Given the description of an element on the screen output the (x, y) to click on. 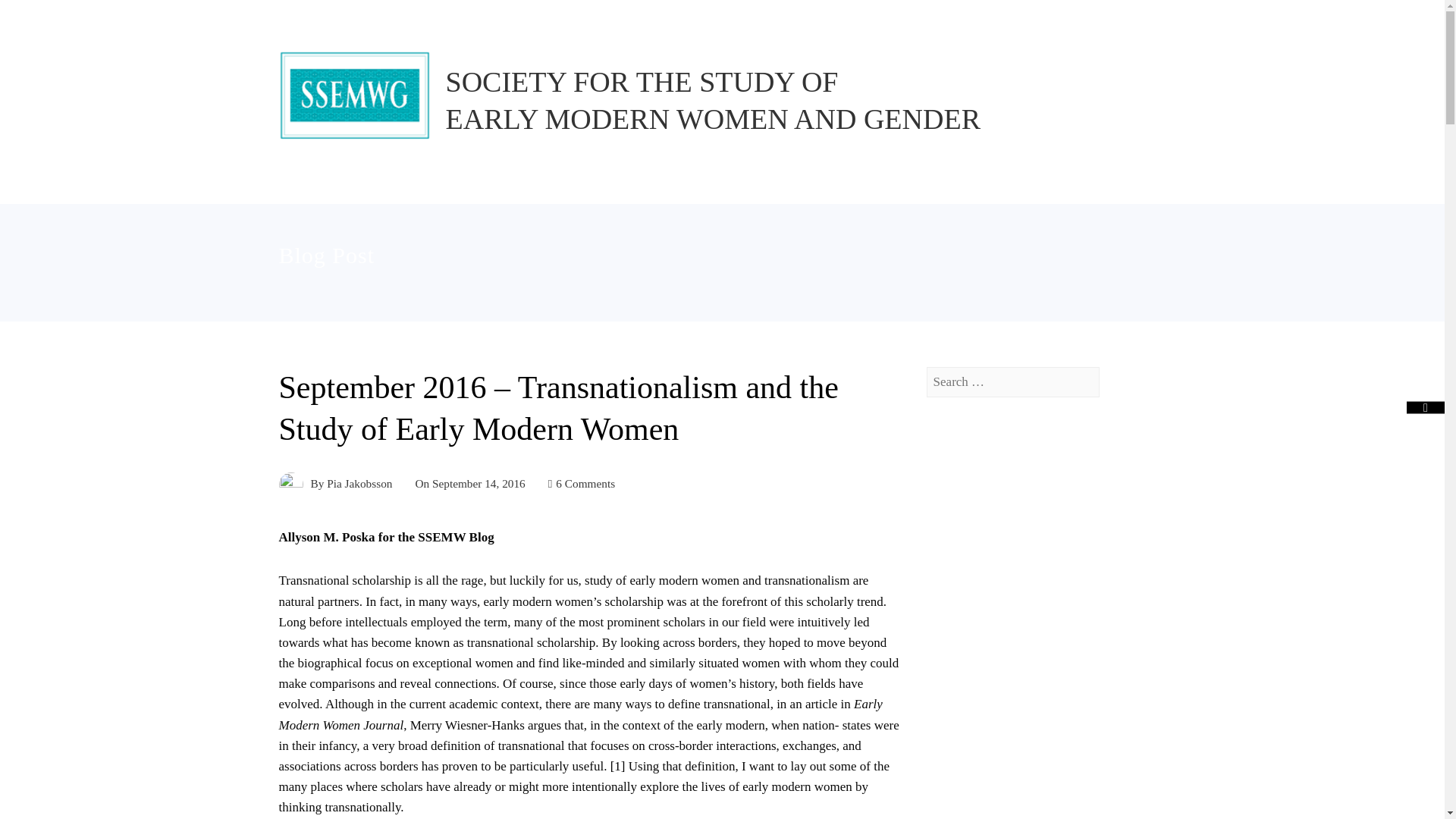
JOIN (397, 179)
AWARDS AND GRANTS (612, 179)
SOCIETY FOR THE STUDY OF (641, 81)
ABOUT (322, 179)
NEWS AND EVENTS (853, 179)
JOURNAL (477, 179)
EARLY MODERN WOMEN AND GENDER (713, 119)
BLOG (737, 179)
